Given the description of an element on the screen output the (x, y) to click on. 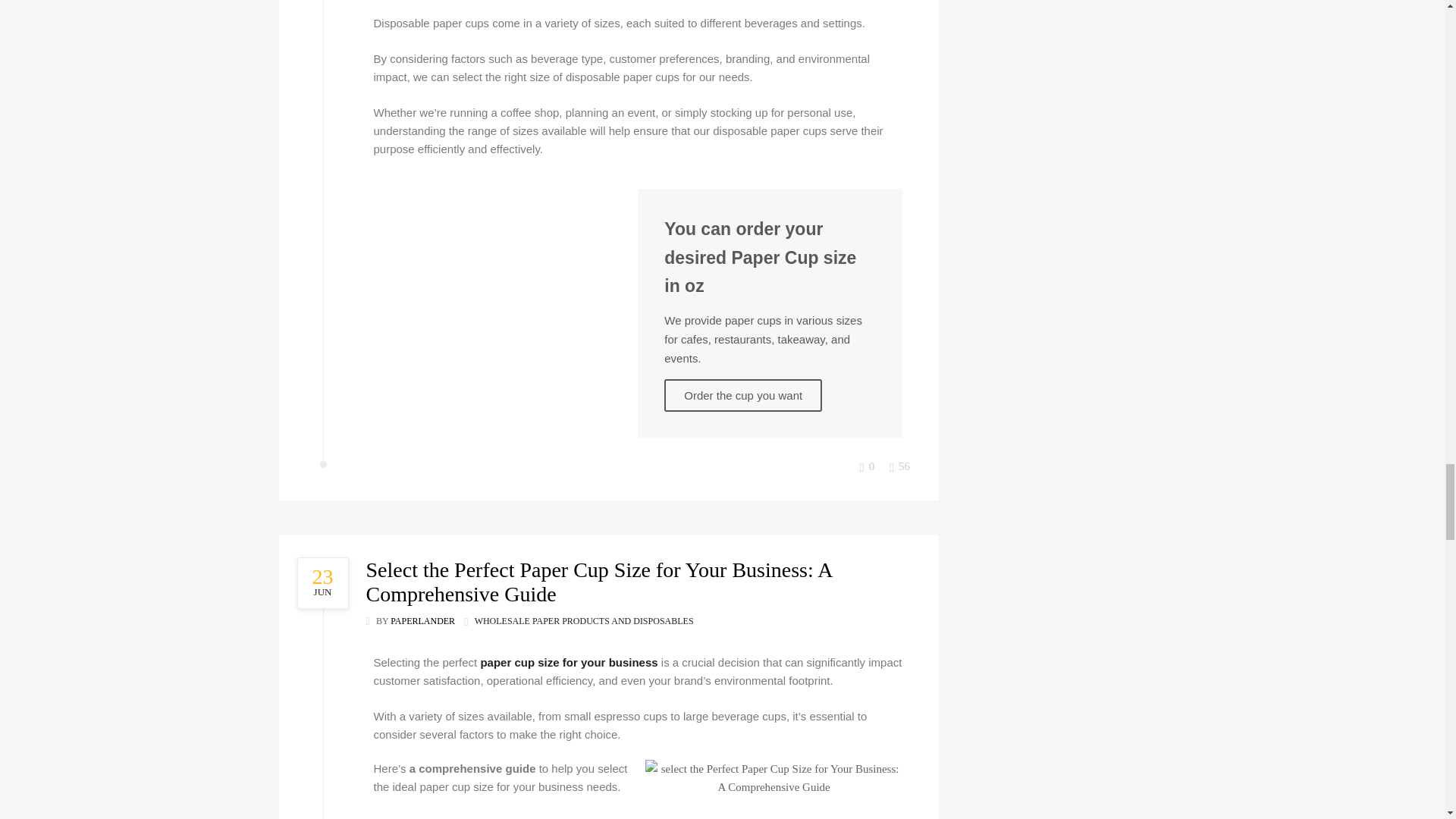
Click here to read more (326, 583)
View all posts by paperlander (422, 620)
